Given the description of an element on the screen output the (x, y) to click on. 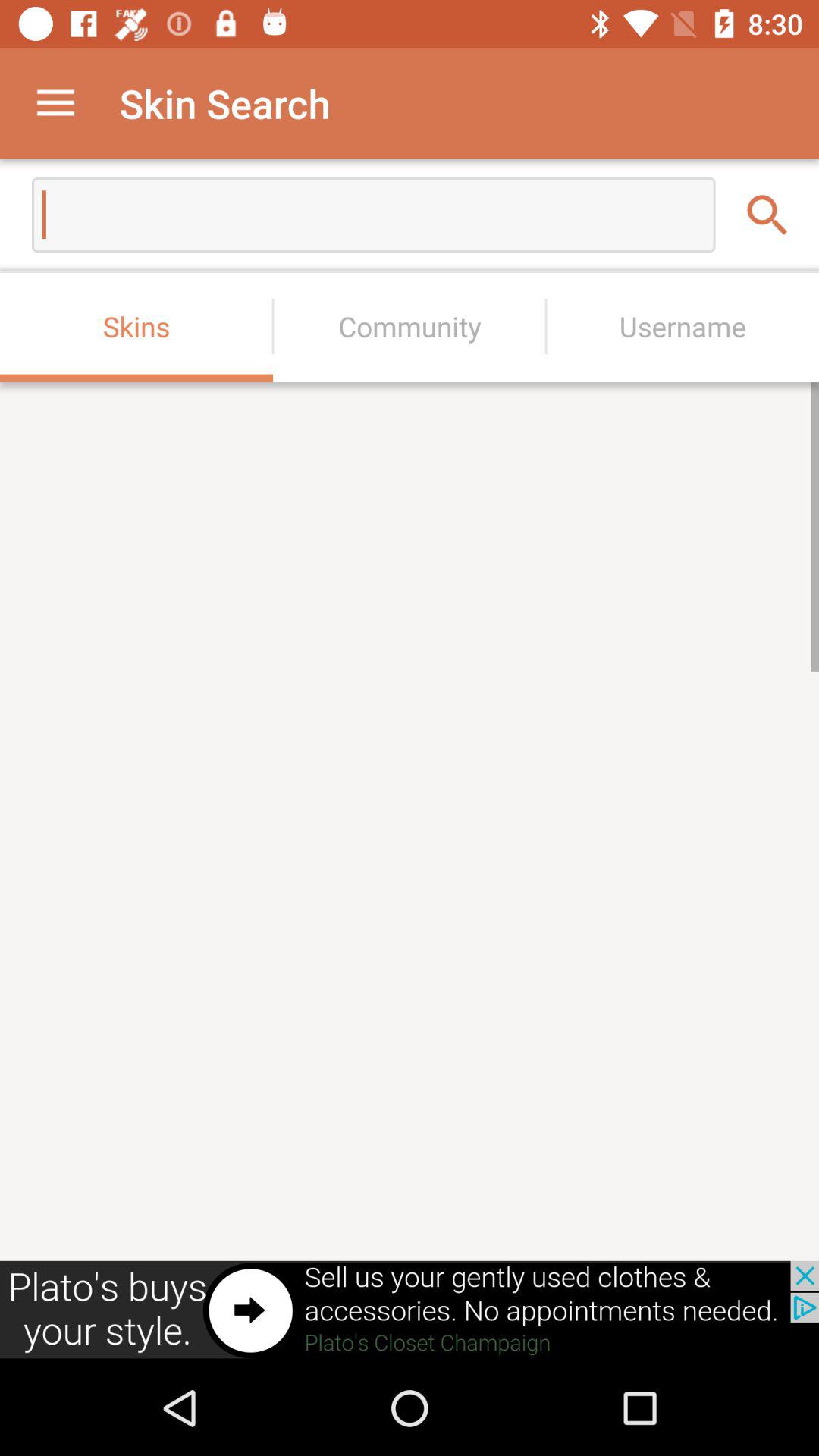
i (660, 525)
